Given the description of an element on the screen output the (x, y) to click on. 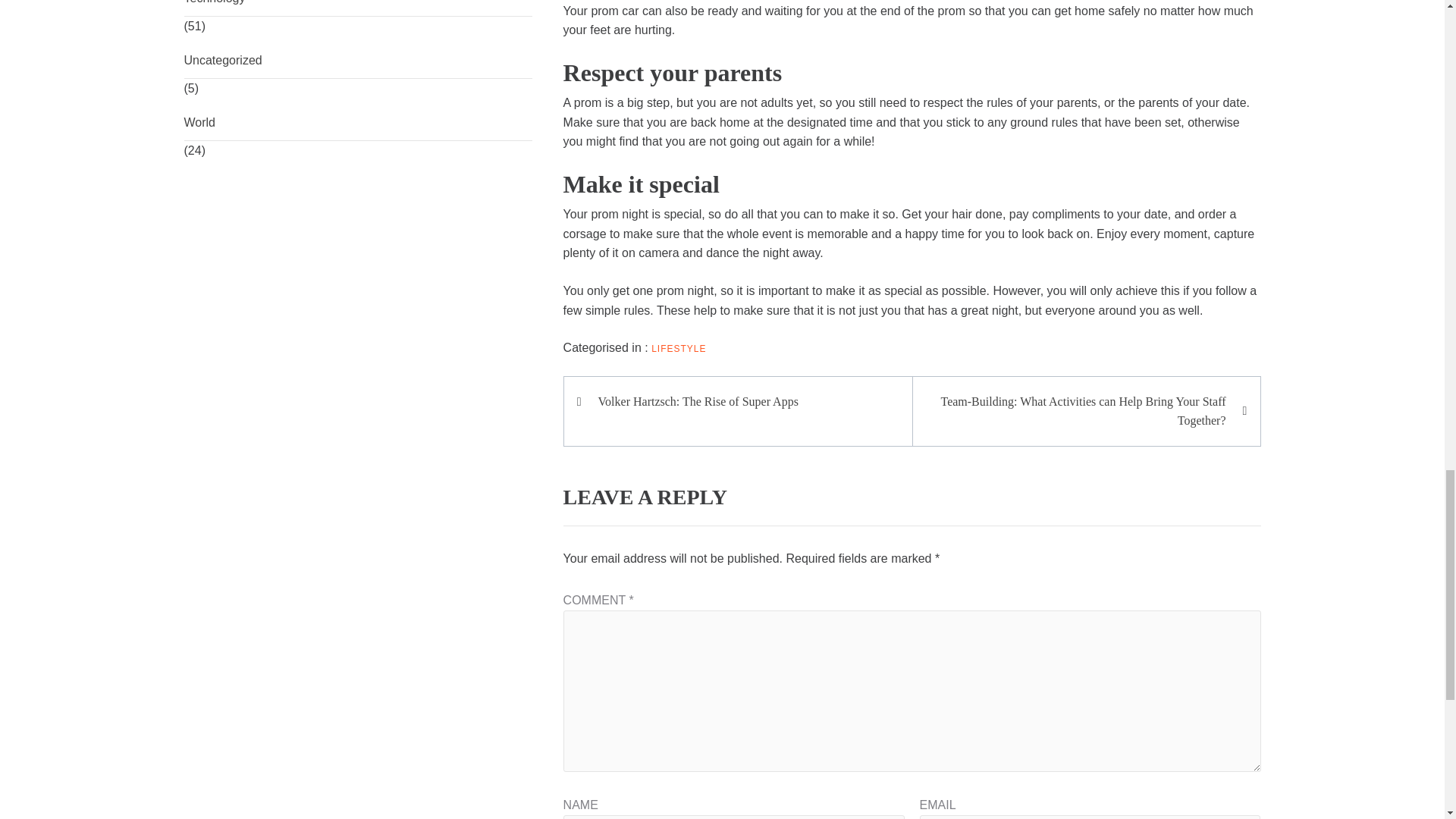
LIFESTYLE (678, 348)
Uncategorized (357, 60)
Volker Hartzsch: The Rise of Super Apps (745, 401)
Technology (357, 8)
World (357, 122)
